Given the description of an element on the screen output the (x, y) to click on. 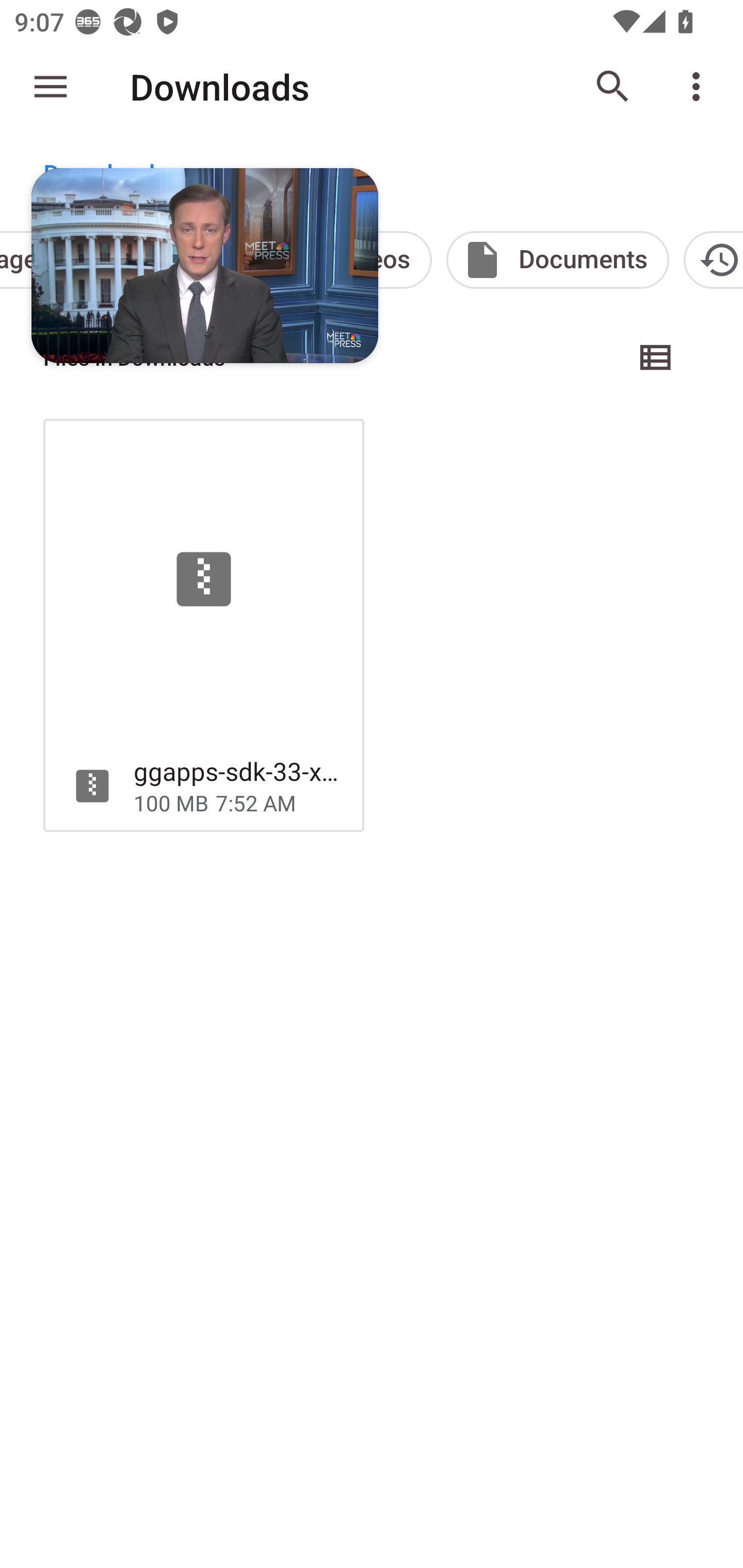
Show roots (50, 86)
Search (612, 86)
More options (699, 86)
Documents (557, 259)
List view (655, 357)
ggapps-sdk-33-x86_64-20231003.zip 100 MB 7:52 AM (203, 625)
